Given the description of an element on the screen output the (x, y) to click on. 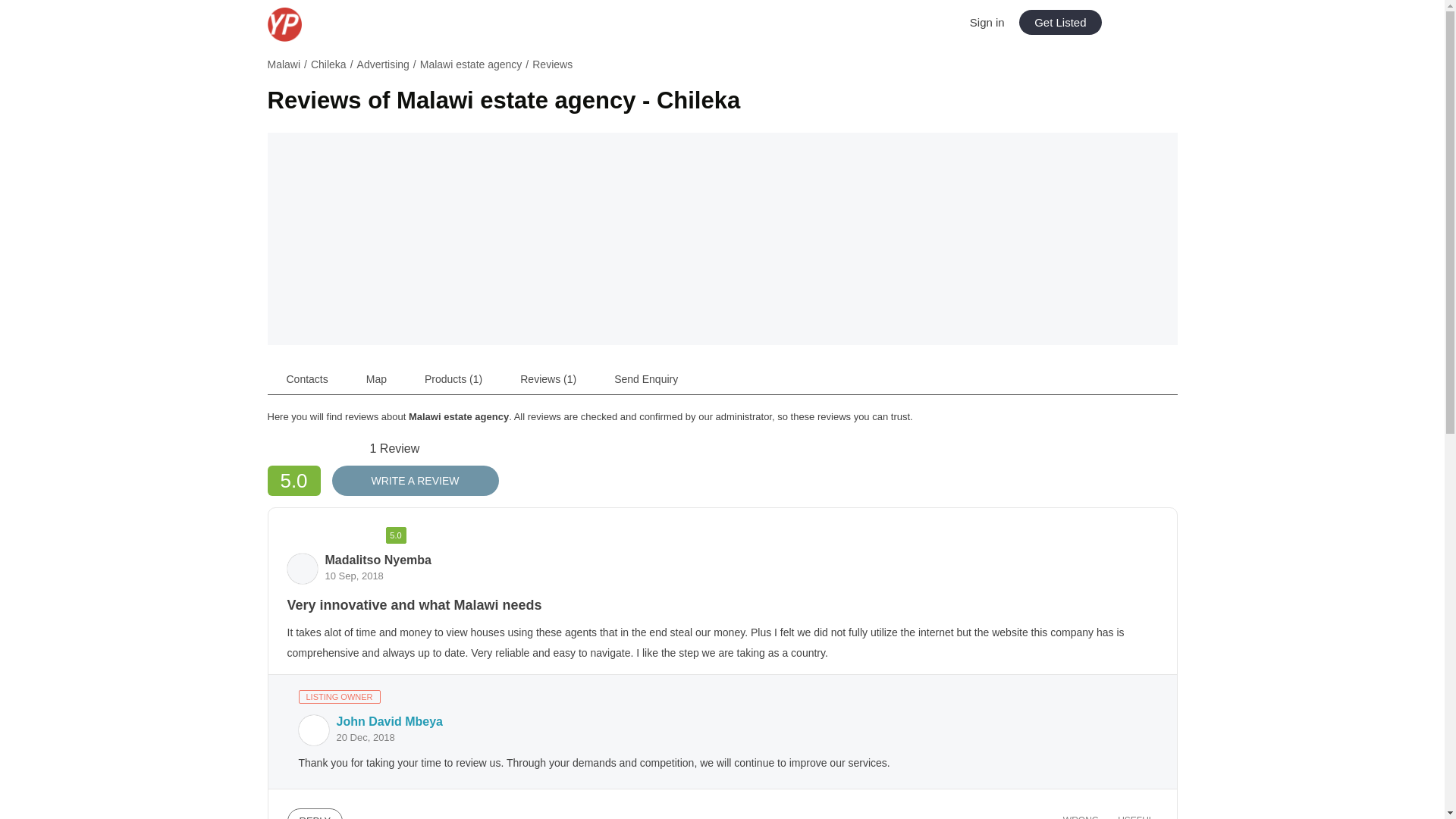
Malawi Chileka Advertising Malawi estate agency Reviews (721, 67)
Contacts (306, 378)
John David Mbeya (389, 721)
WRITE A REVIEW (415, 481)
Chileka (328, 64)
Advertising (382, 64)
Map (376, 378)
Get Listed (1059, 22)
USEFUL (1129, 813)
Get Listed (1059, 22)
